Given the description of an element on the screen output the (x, y) to click on. 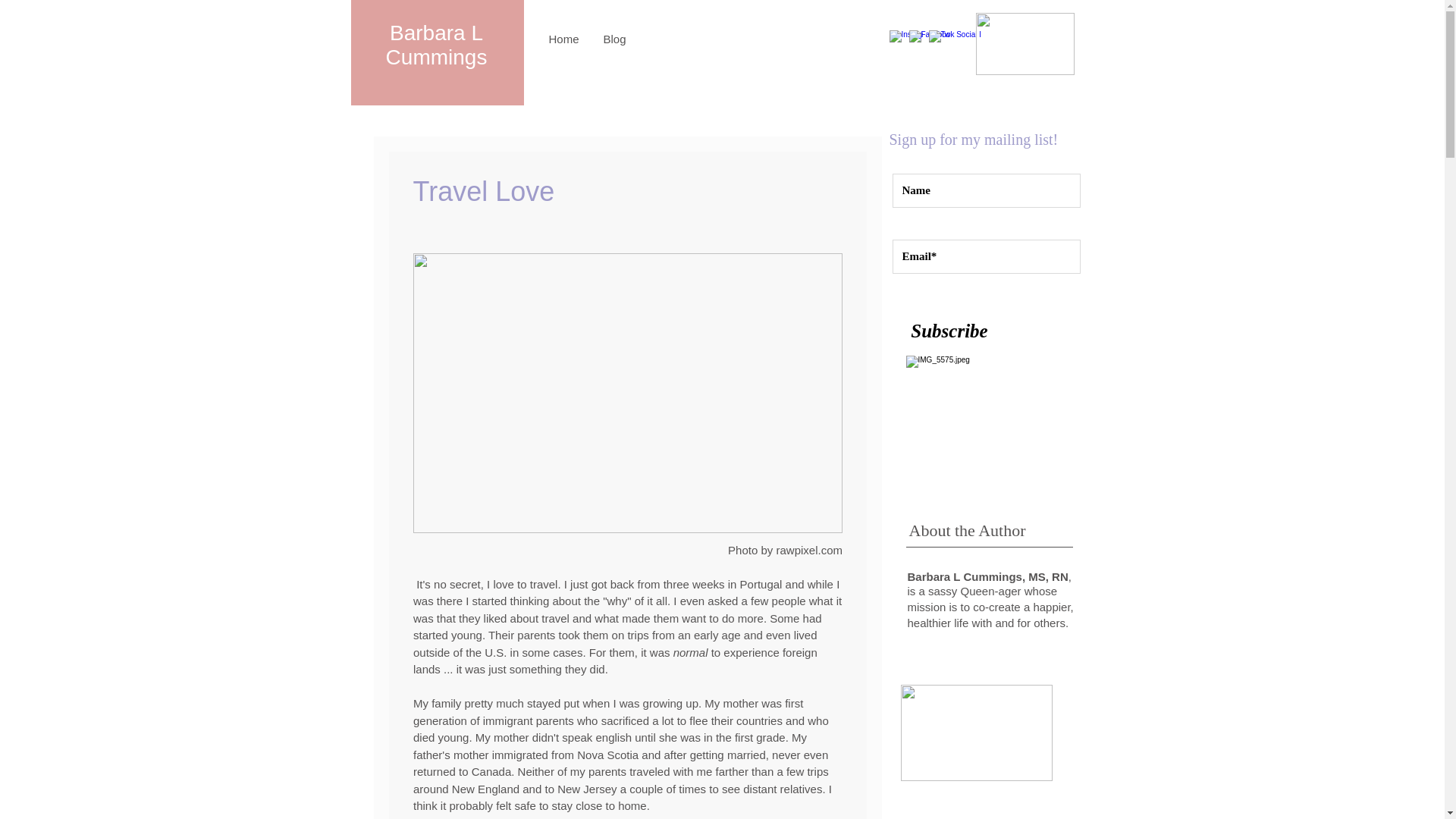
Home (564, 38)
Subscribe (949, 330)
Blog (614, 38)
Barbara L Cummings (436, 44)
